Given the description of an element on the screen output the (x, y) to click on. 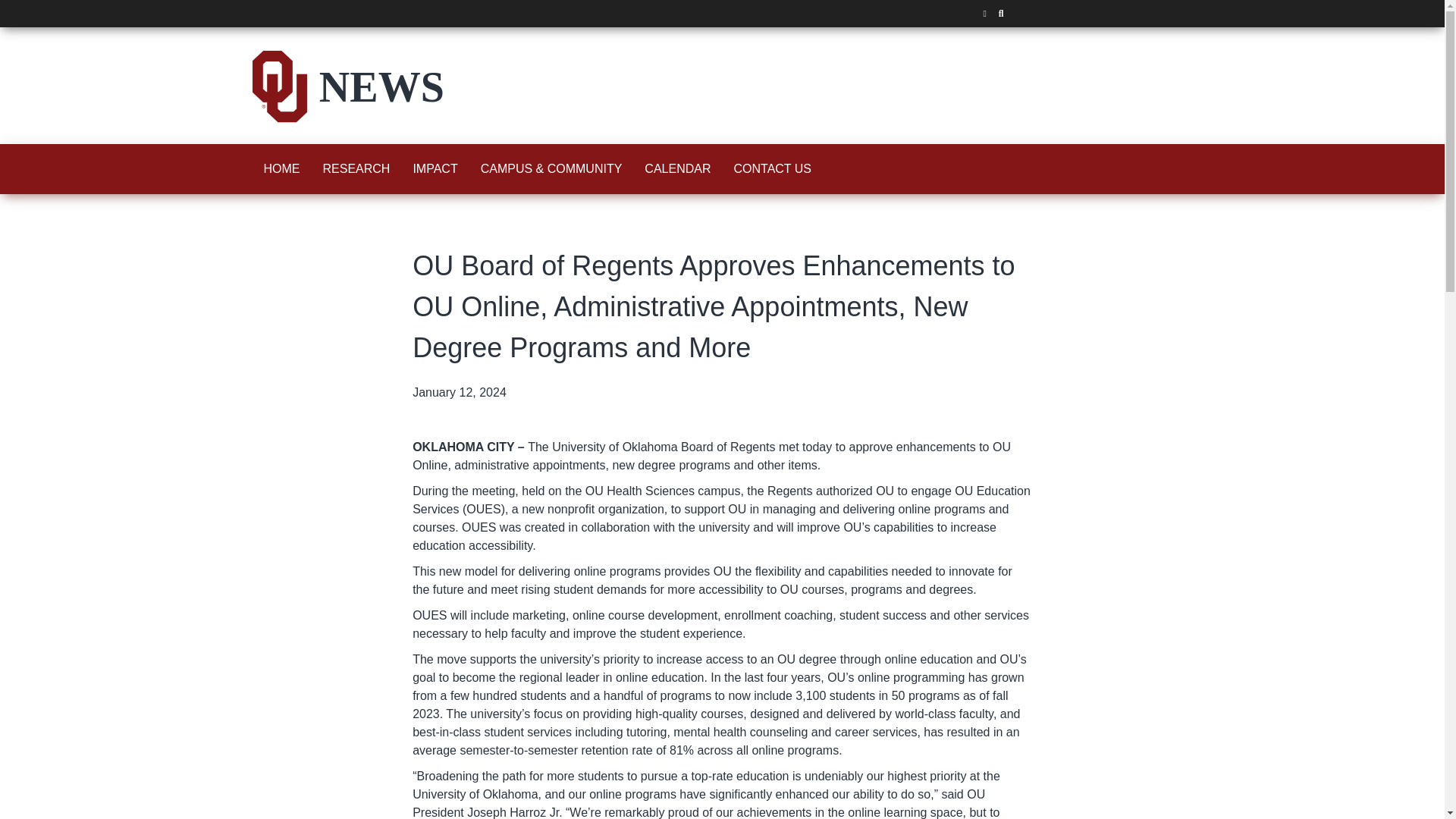
Interlocking OU logo (278, 86)
CALENDAR (677, 168)
OU HOMEPAGE (983, 13)
IMPACT (434, 168)
SEARCH OU (1001, 13)
HOME (281, 168)
RESEARCH (356, 168)
CONTACT US (772, 168)
